Given the description of an element on the screen output the (x, y) to click on. 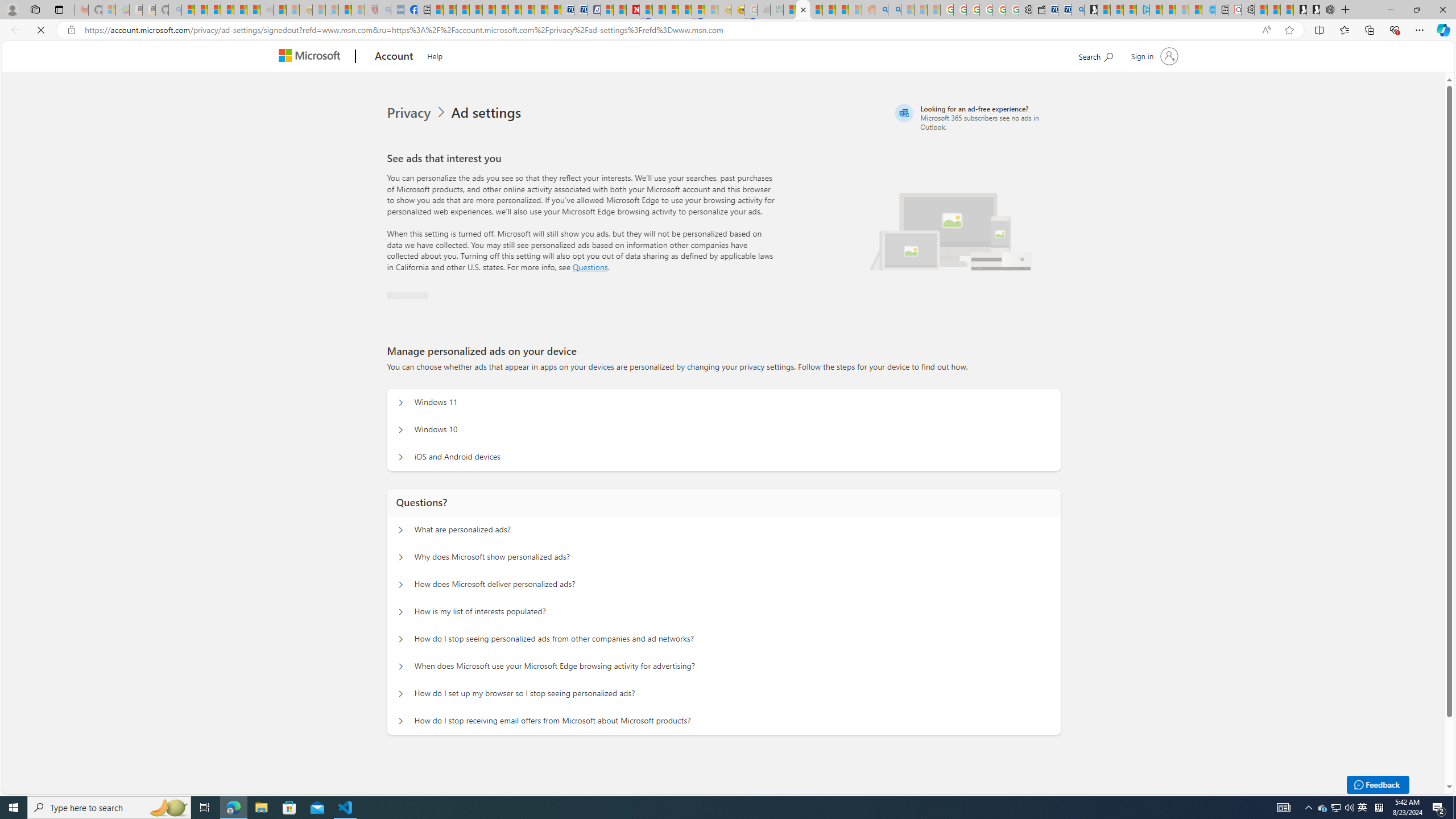
Student Loan Update: Forgiveness Program Ends This Month (842, 9)
12 Popular Science Lies that Must be Corrected - Sleeping (357, 9)
New Report Confirms 2023 Was Record Hot | Watch (239, 9)
Questions? What are personalized ads? (399, 530)
